Given the description of an element on the screen output the (x, y) to click on. 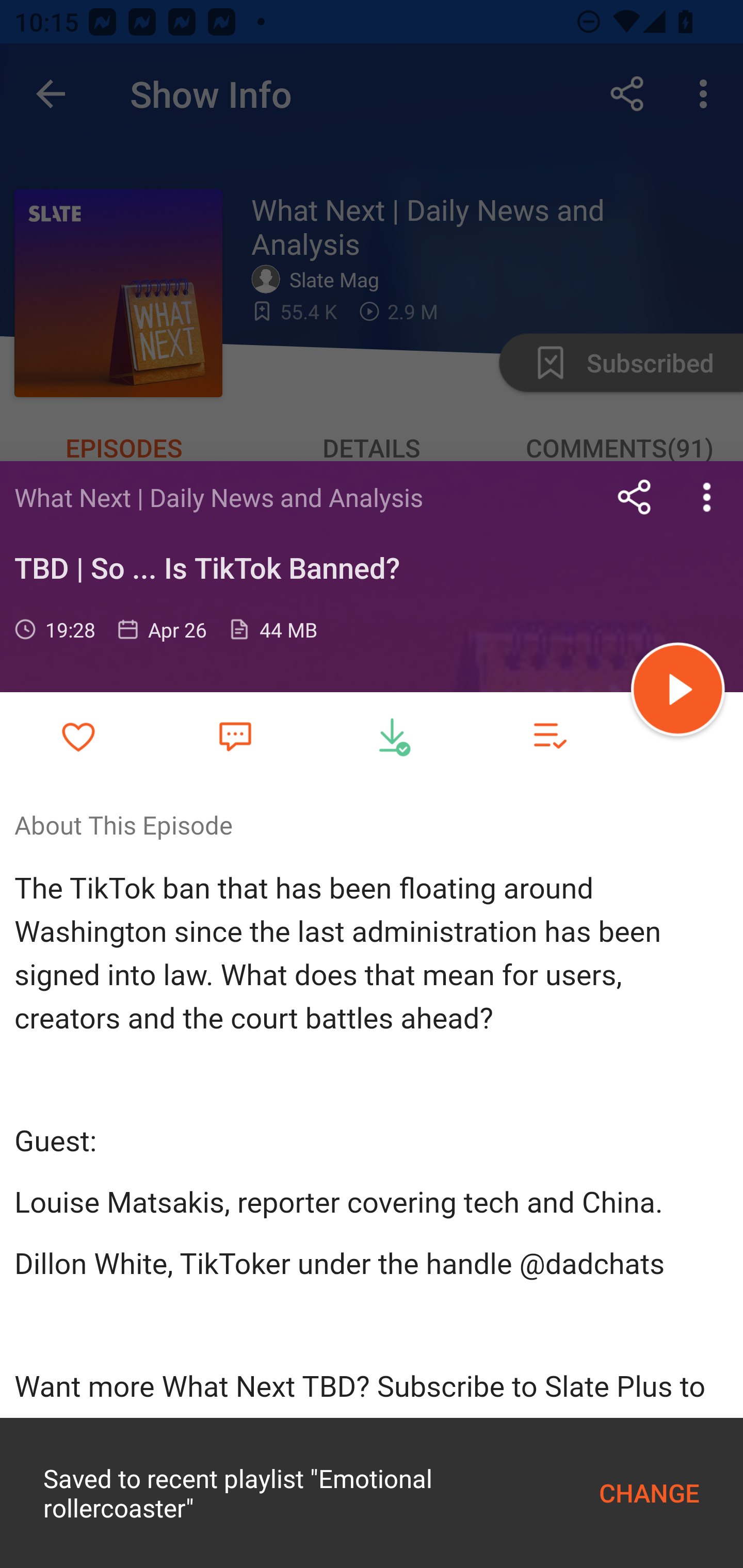
Share (634, 496)
more options (706, 496)
Play (677, 692)
Favorite (234, 735)
Add to Favorites (78, 735)
Downloaded (391, 735)
Add to playlist (548, 735)
CHANGE (648, 1492)
